Given the description of an element on the screen output the (x, y) to click on. 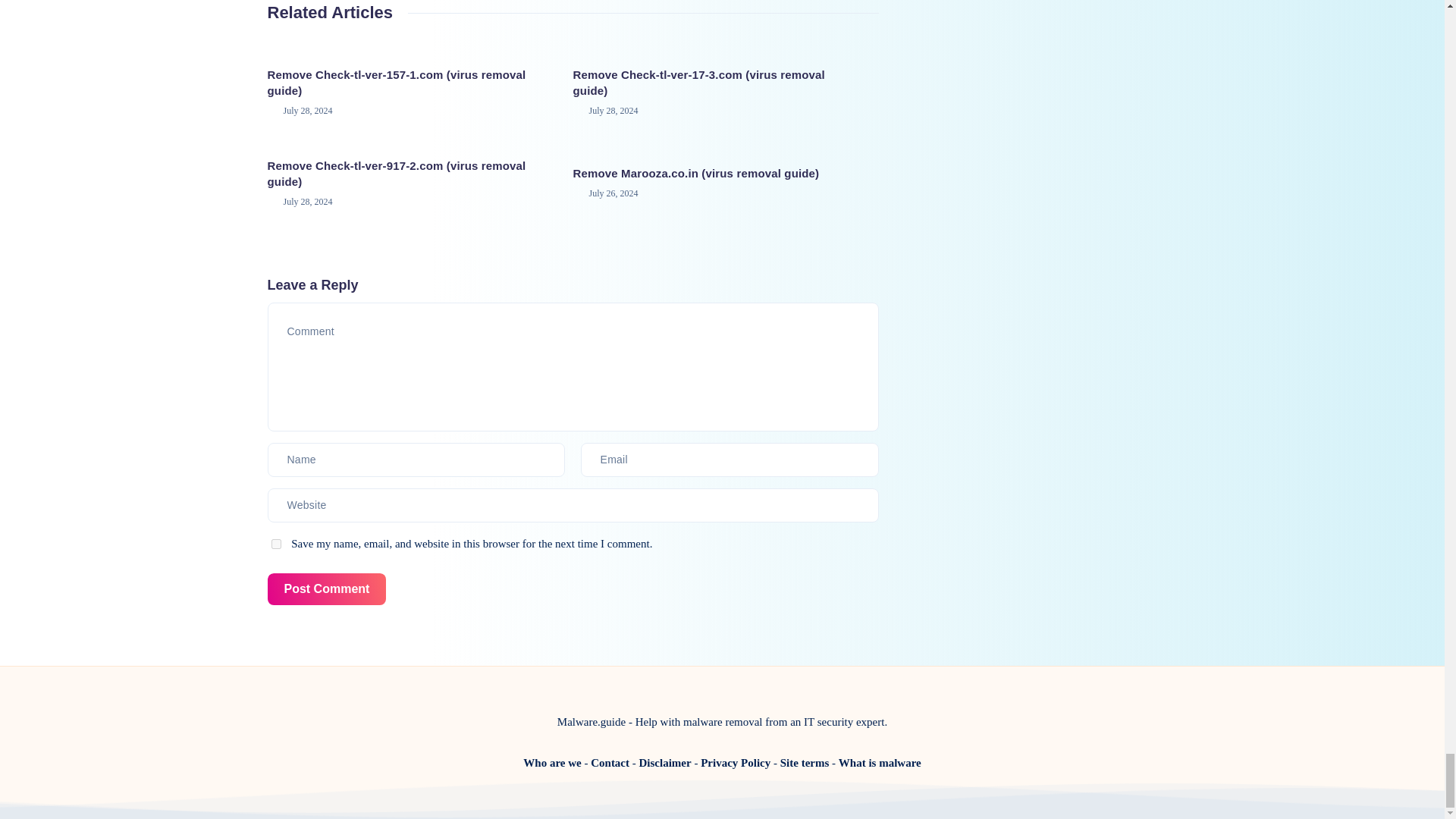
yes (275, 543)
Post Comment (325, 589)
